Given the description of an element on the screen output the (x, y) to click on. 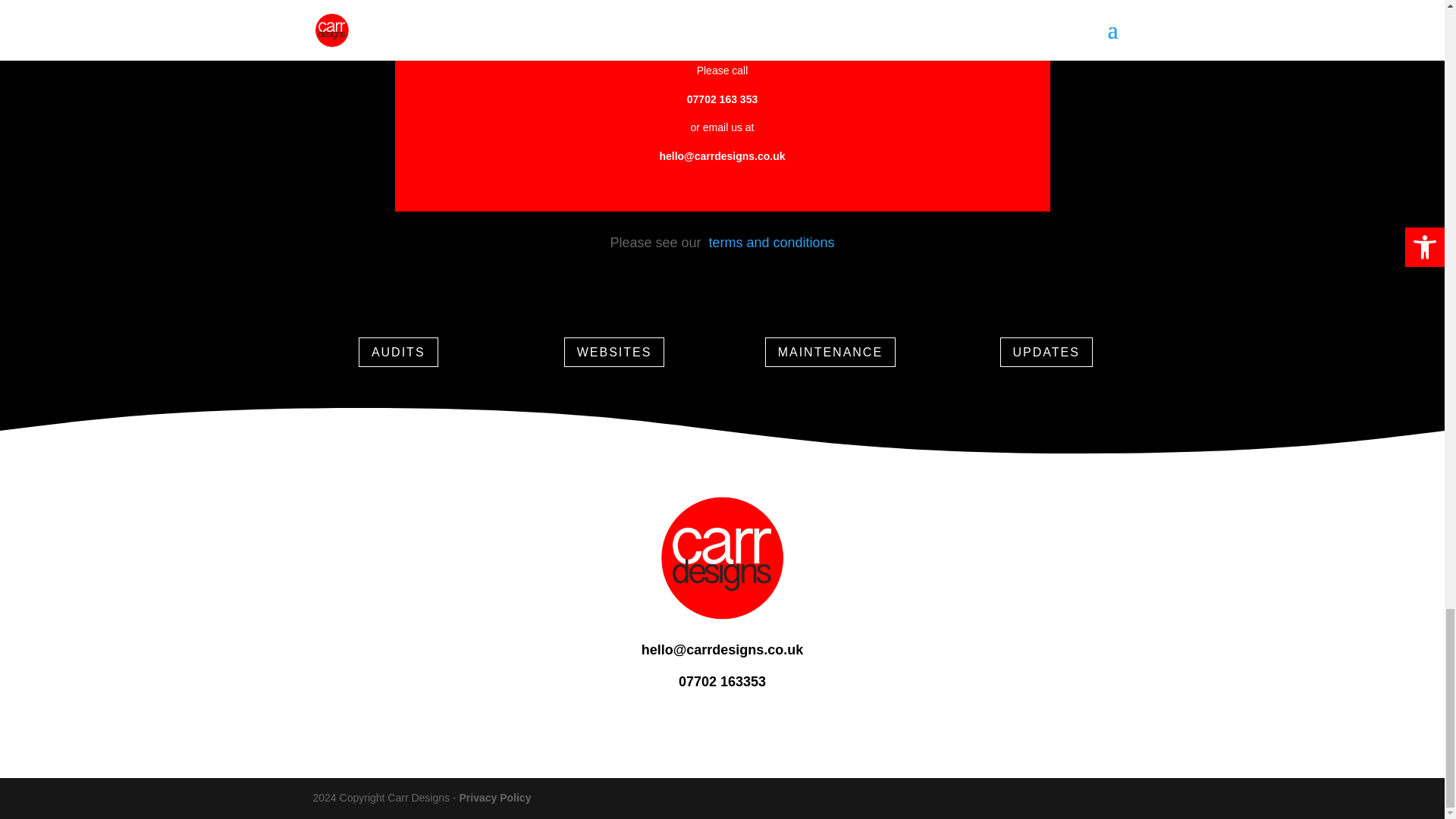
Privacy Policy (494, 797)
UPDATES (1045, 351)
MAINTENANCE (830, 351)
WEBSITES (614, 351)
terms and conditions (770, 242)
cropped-CarrDesignsv2.22-e1585037277114.png (722, 557)
AUDITS (398, 351)
07702 163353 (721, 681)
07702 163 353 (722, 99)
